Given the description of an element on the screen output the (x, y) to click on. 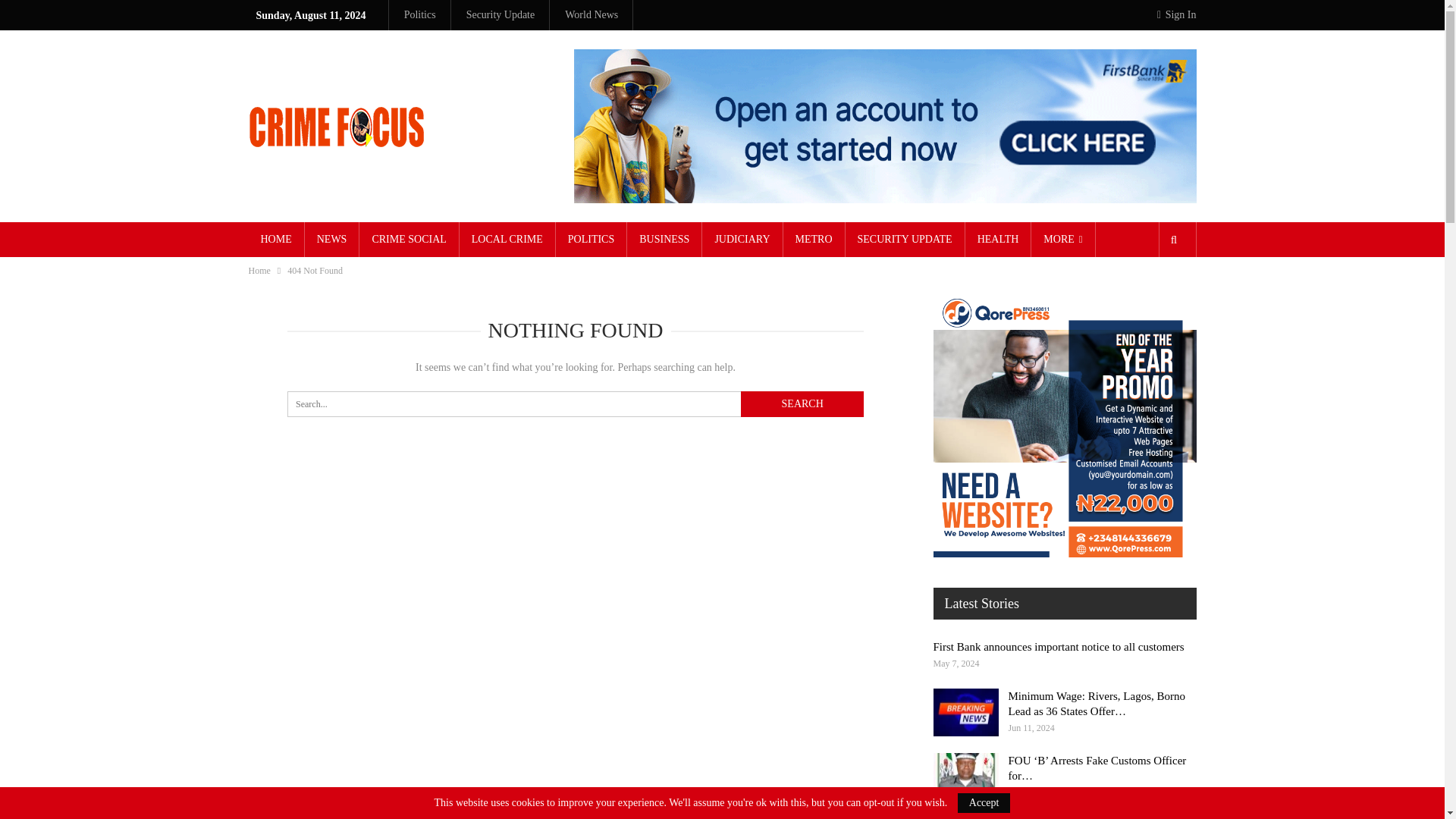
HOME (276, 239)
First Bank announces important notice to all customers (1058, 646)
METRO (813, 239)
LOCAL CRIME (507, 239)
Search for: (574, 403)
SECURITY UPDATE (904, 239)
MORE (1062, 239)
World News (590, 14)
Search (802, 403)
Search (802, 403)
